Given the description of an element on the screen output the (x, y) to click on. 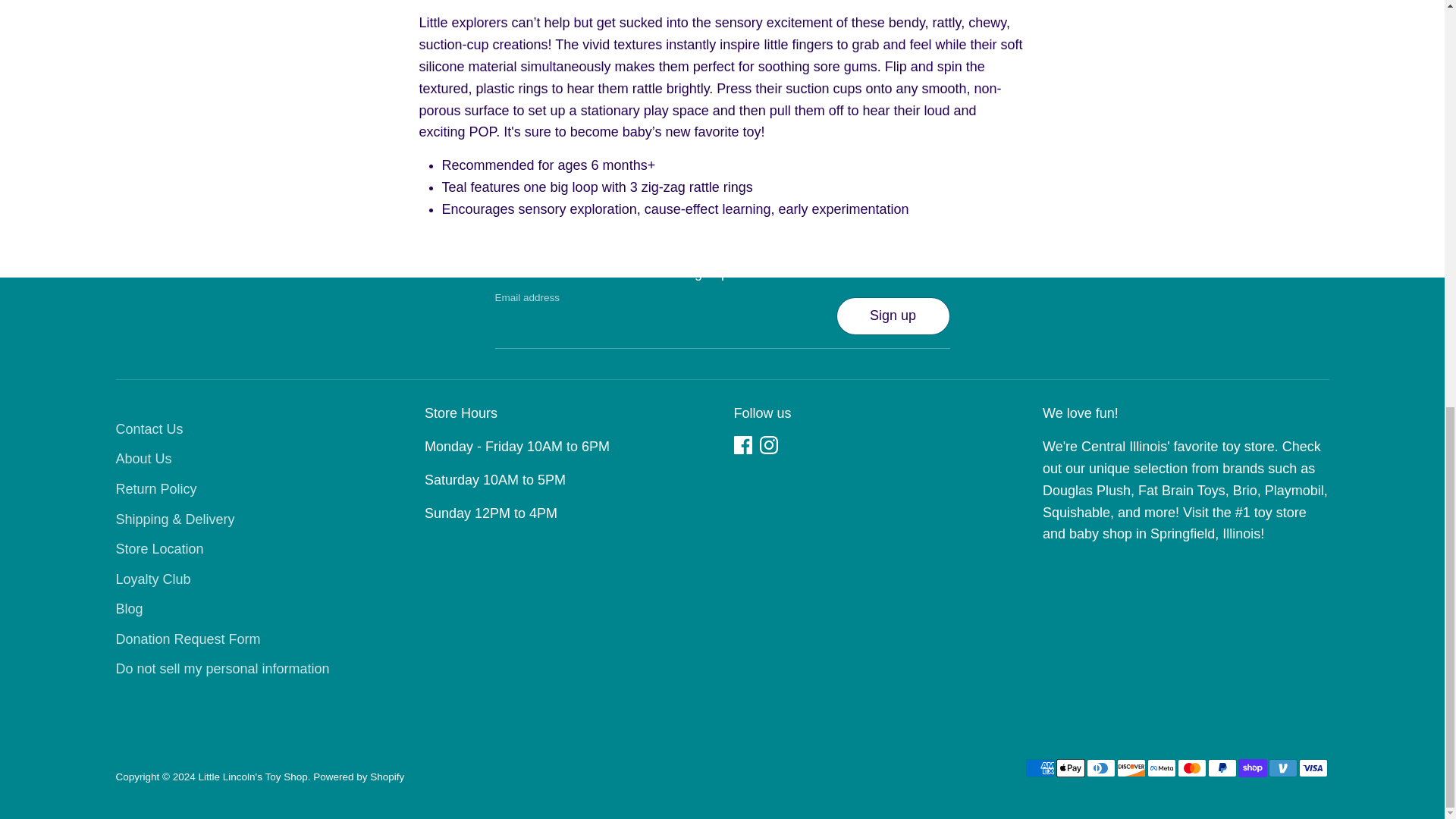
Meta Pay (1160, 768)
Diners Club (1100, 768)
Discover (1130, 768)
American Express (1039, 768)
Apple Pay (1069, 768)
Mastercard (1190, 768)
